Given the description of an element on the screen output the (x, y) to click on. 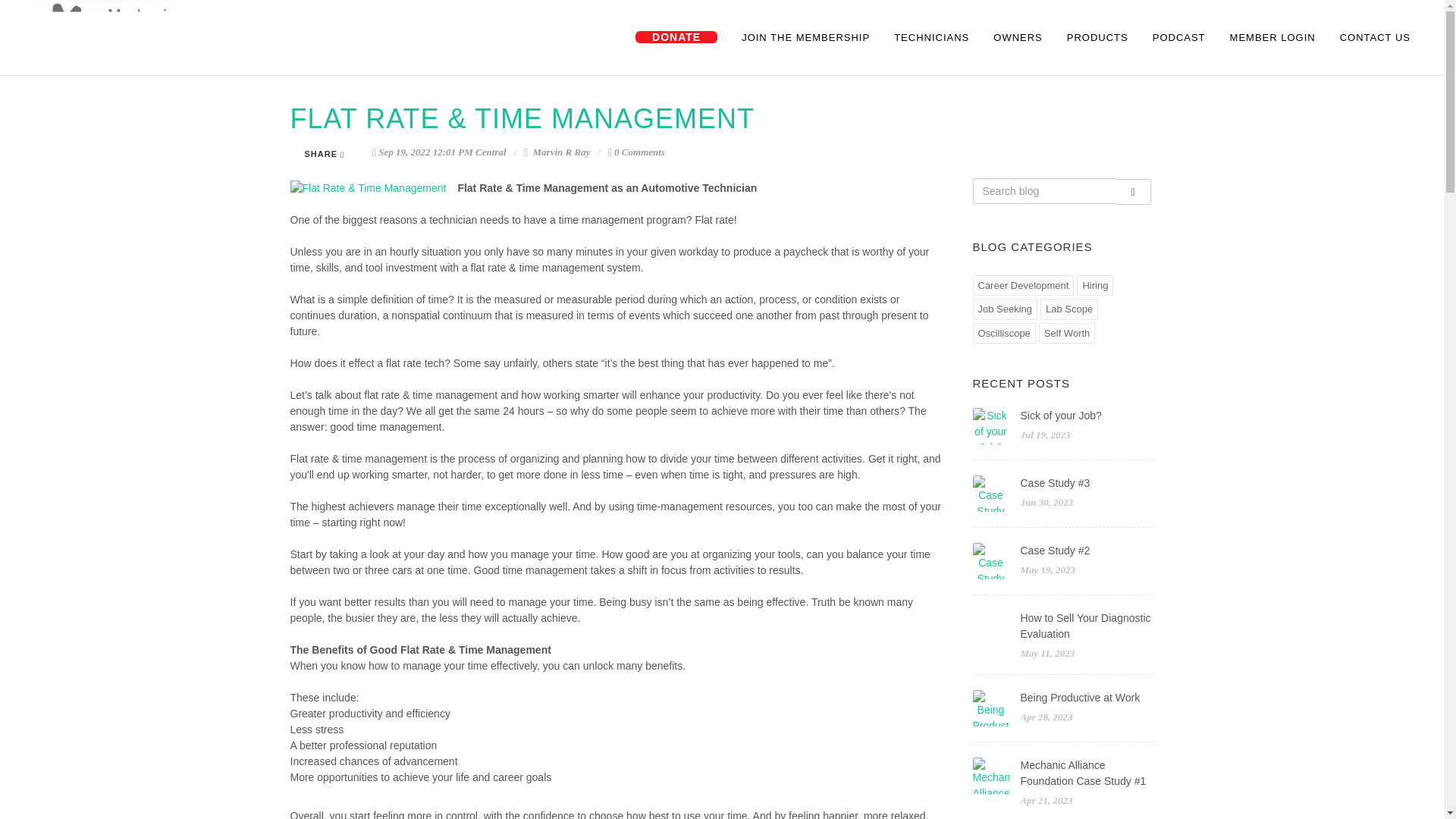
PODCAST (1179, 38)
TECHNICIANS (930, 38)
Career Development (1023, 284)
DONATE (676, 38)
CONTACT US (1374, 38)
OWNERS (1017, 38)
PRODUCTS (1097, 38)
SHARE (326, 153)
MEMBER LOGIN (1272, 38)
JOIN THE MEMBERSHIP (805, 38)
